Given the description of an element on the screen output the (x, y) to click on. 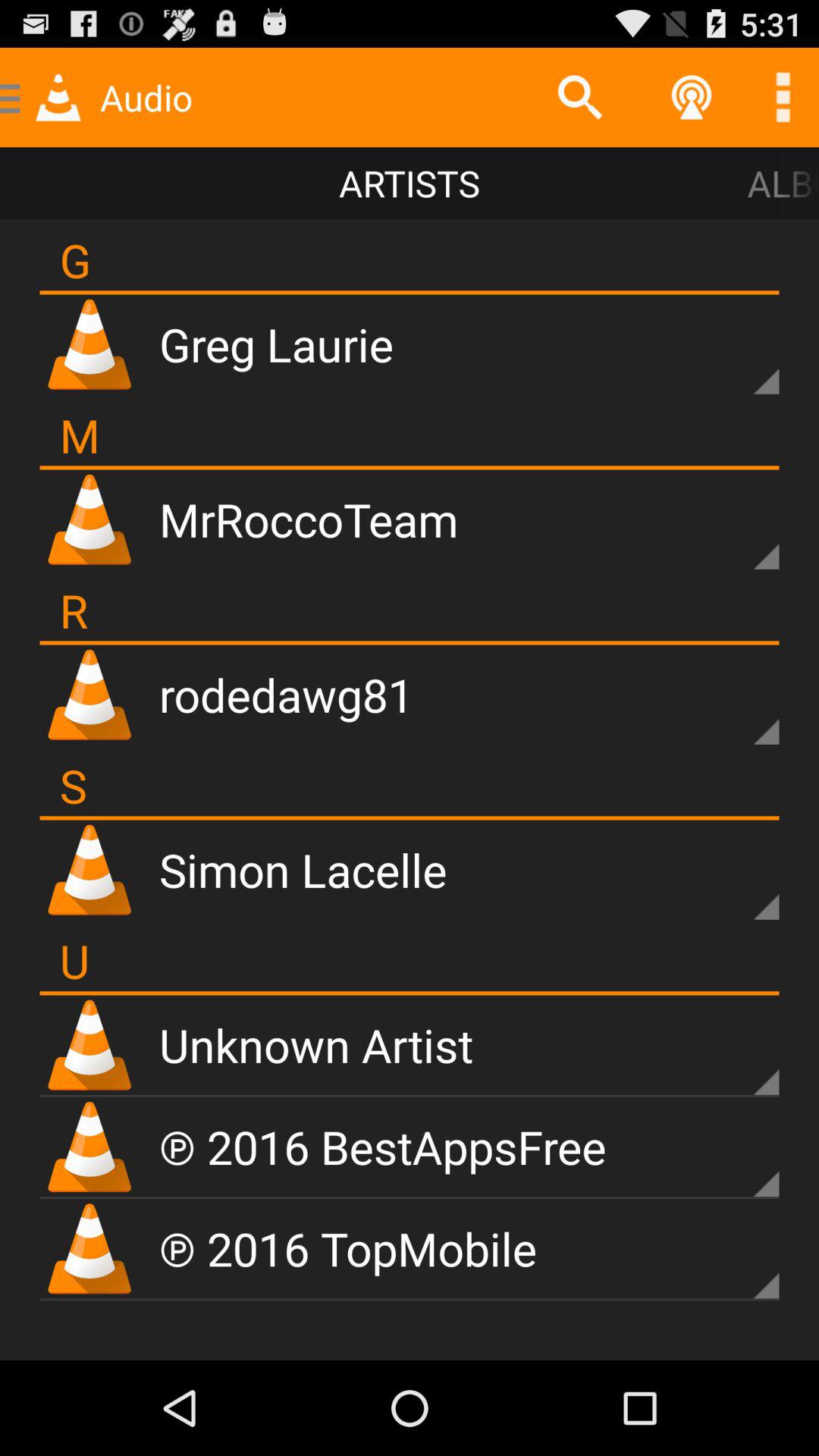
opens sub-menu (740, 1259)
